Given the description of an element on the screen output the (x, y) to click on. 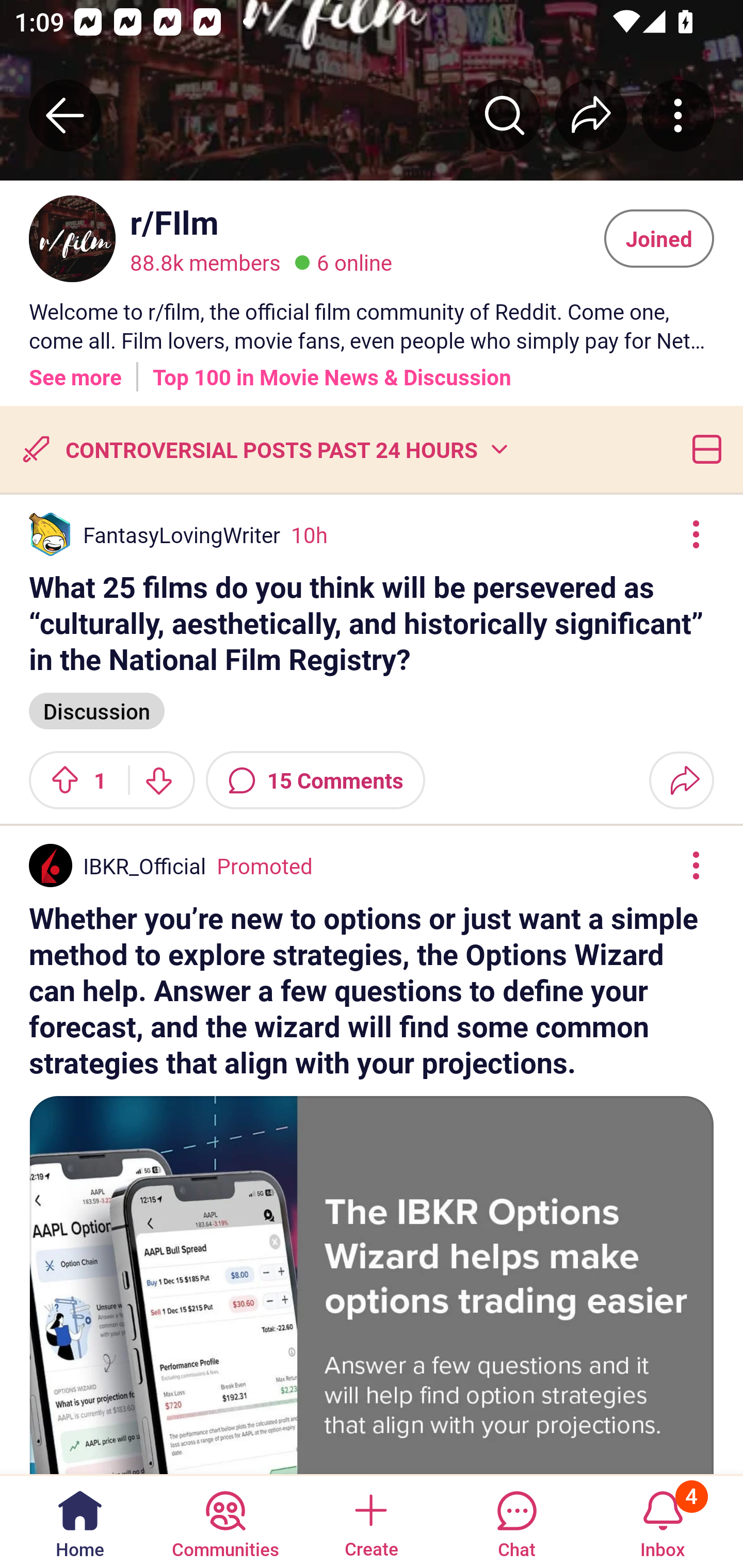
Back (64, 115)
Search r/﻿FIlm (504, 115)
Share r/﻿FIlm (591, 115)
More community actions (677, 115)
Card (703, 449)
Discussion (96, 709)
Home (80, 1520)
Communities (225, 1520)
Create a post Create (370, 1520)
Chat (516, 1520)
Inbox, has 4 notifications 4 Inbox (662, 1520)
